Given the description of an element on the screen output the (x, y) to click on. 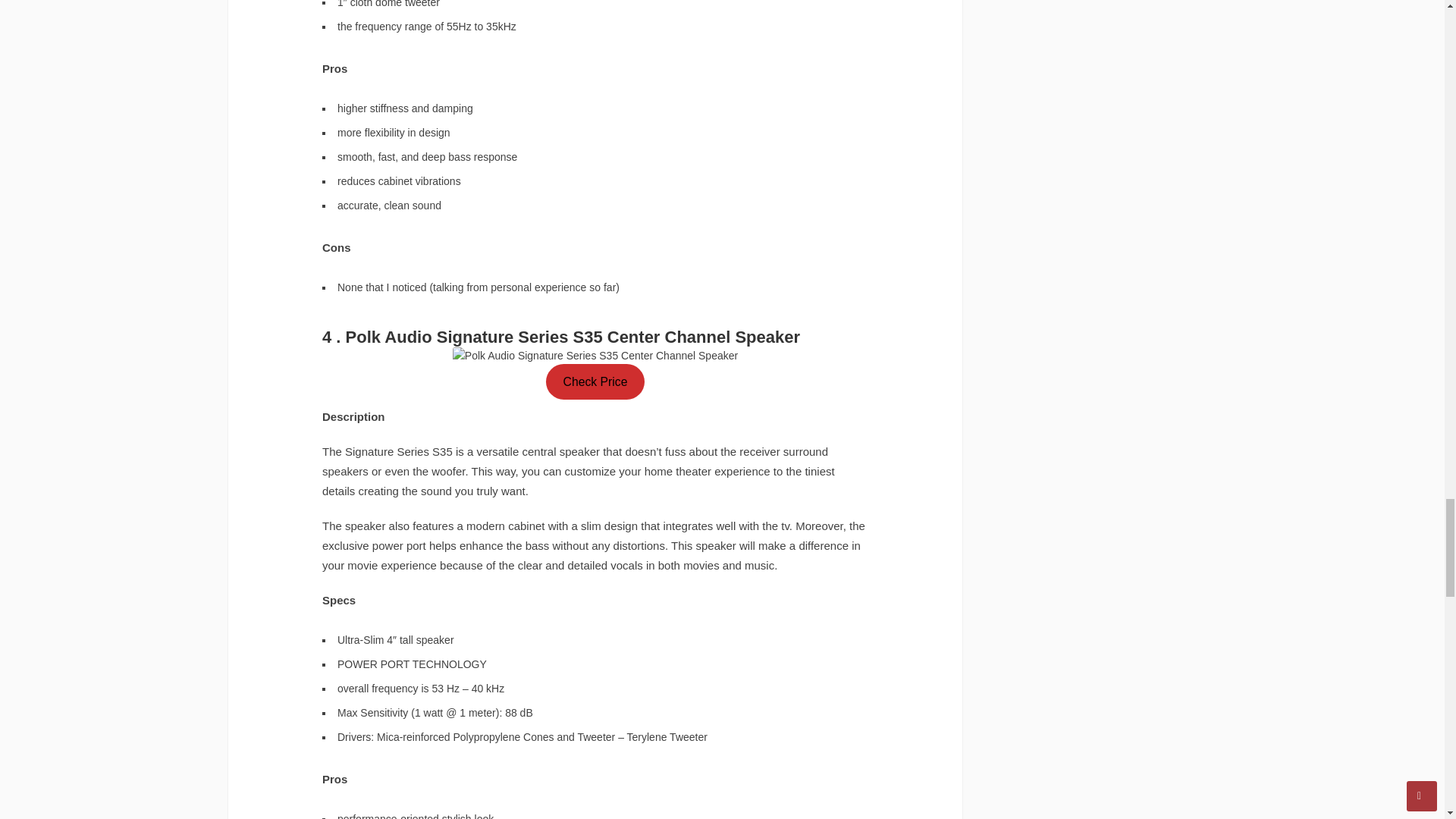
Check Price (595, 381)
